Given the description of an element on the screen output the (x, y) to click on. 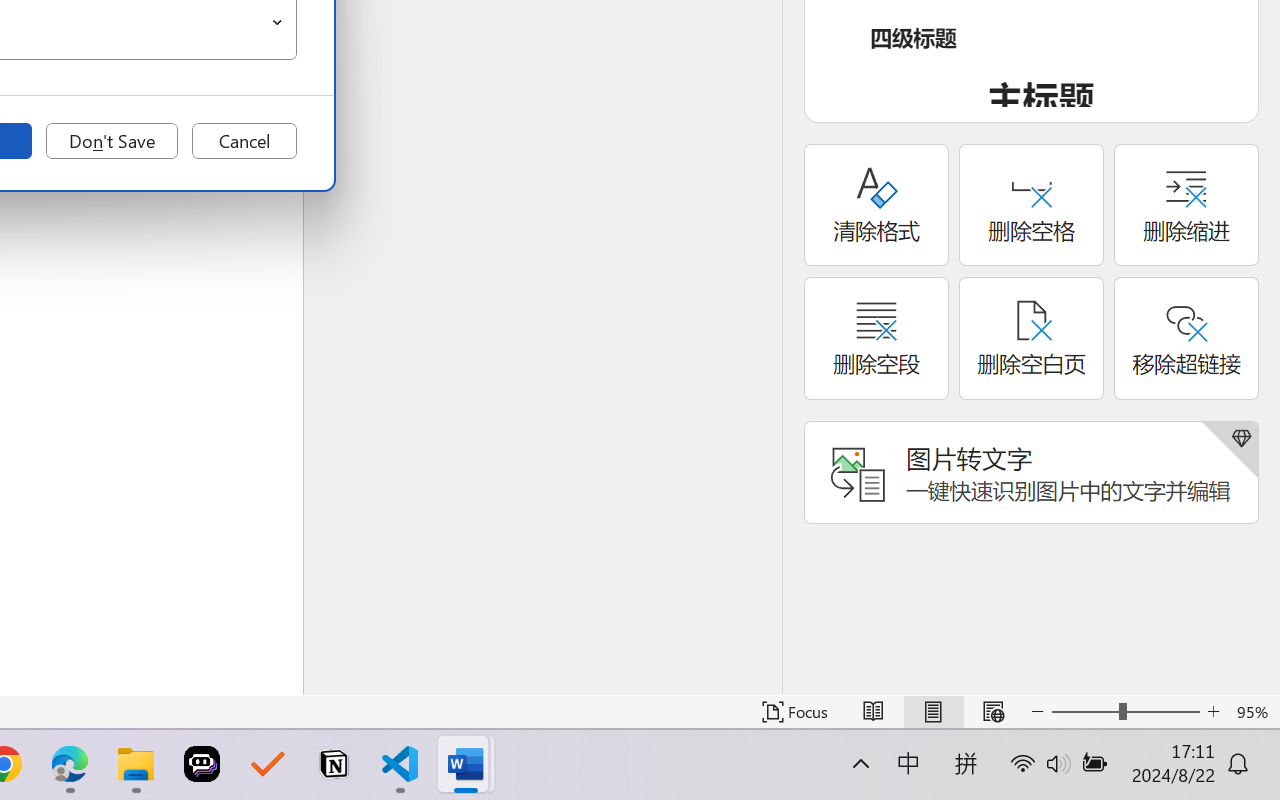
Don't Save (111, 141)
Cancel (244, 141)
